Given the description of an element on the screen output the (x, y) to click on. 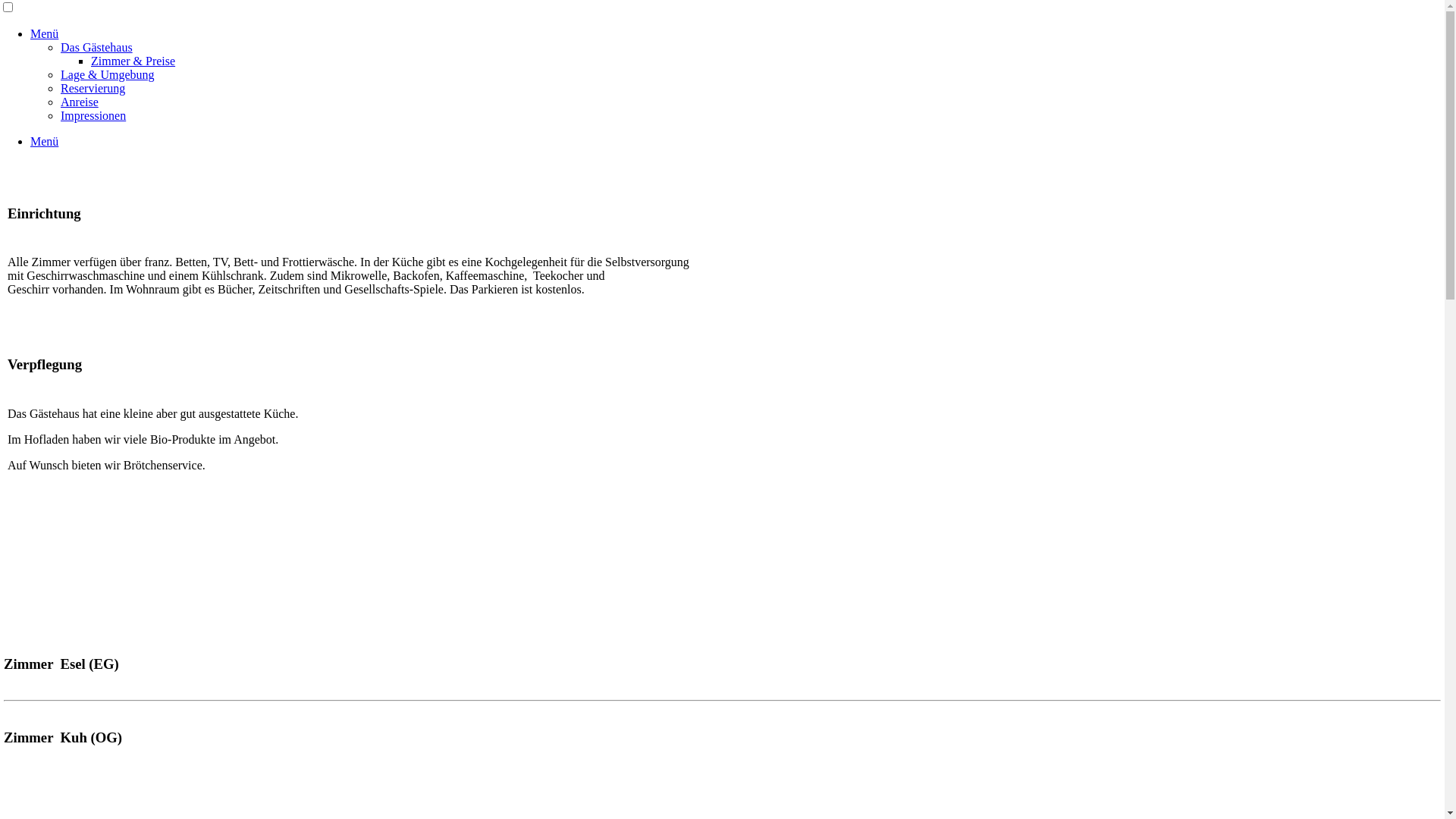
Reservierung Element type: text (92, 87)
Zimmer & Preise Element type: text (133, 60)
Impressionen Element type: text (92, 115)
Lage & Umgebung Element type: text (107, 74)
Anreise Element type: text (79, 101)
